Given the description of an element on the screen output the (x, y) to click on. 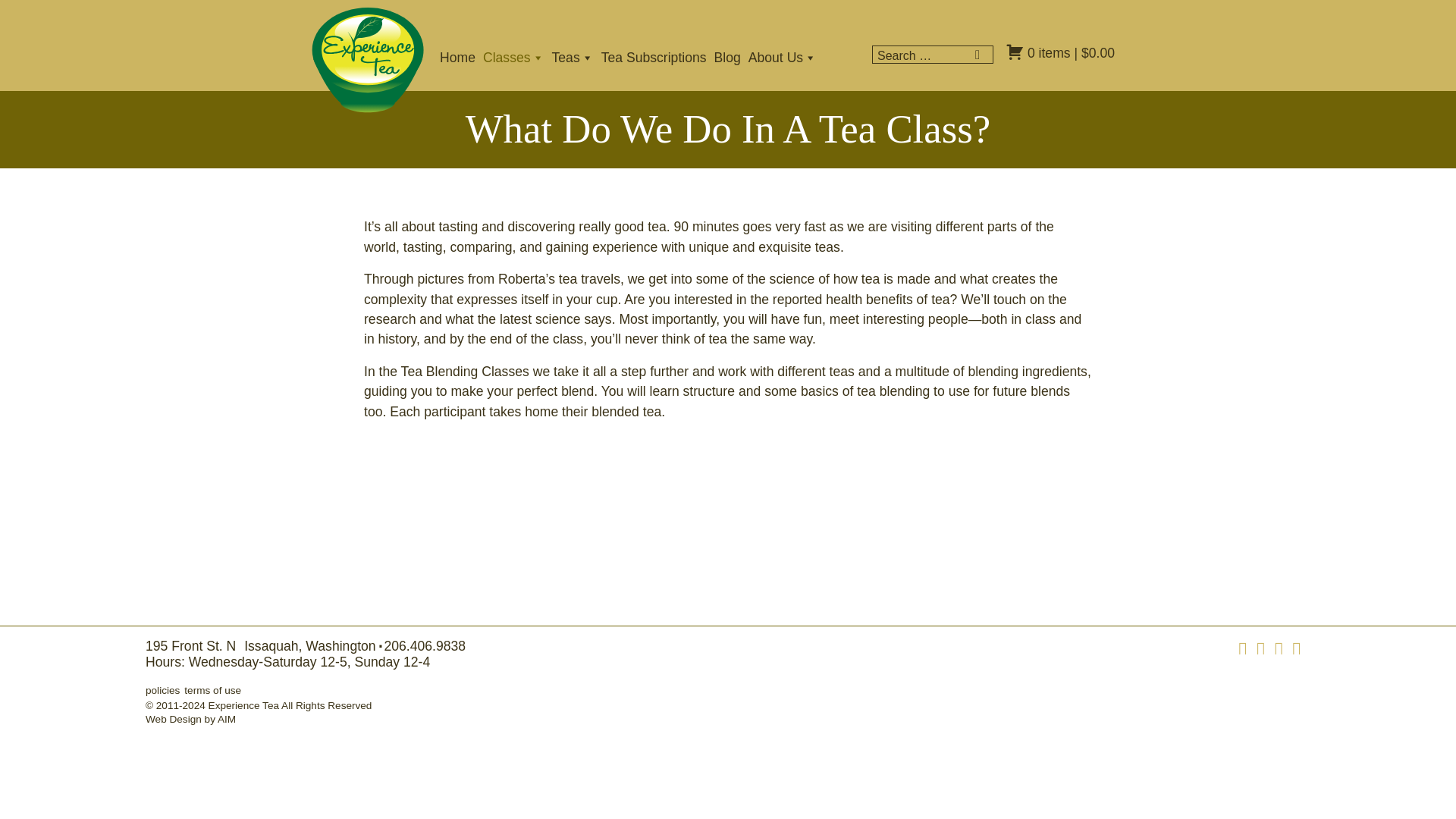
View your shopping cart (1060, 52)
Teas (576, 57)
About Us (786, 57)
Tea Subscriptions (657, 57)
Classes (517, 57)
Home (461, 57)
Blog (731, 57)
Experience Tea (368, 59)
Visit AIM to learn more about our website solutions (190, 718)
